Given the description of an element on the screen output the (x, y) to click on. 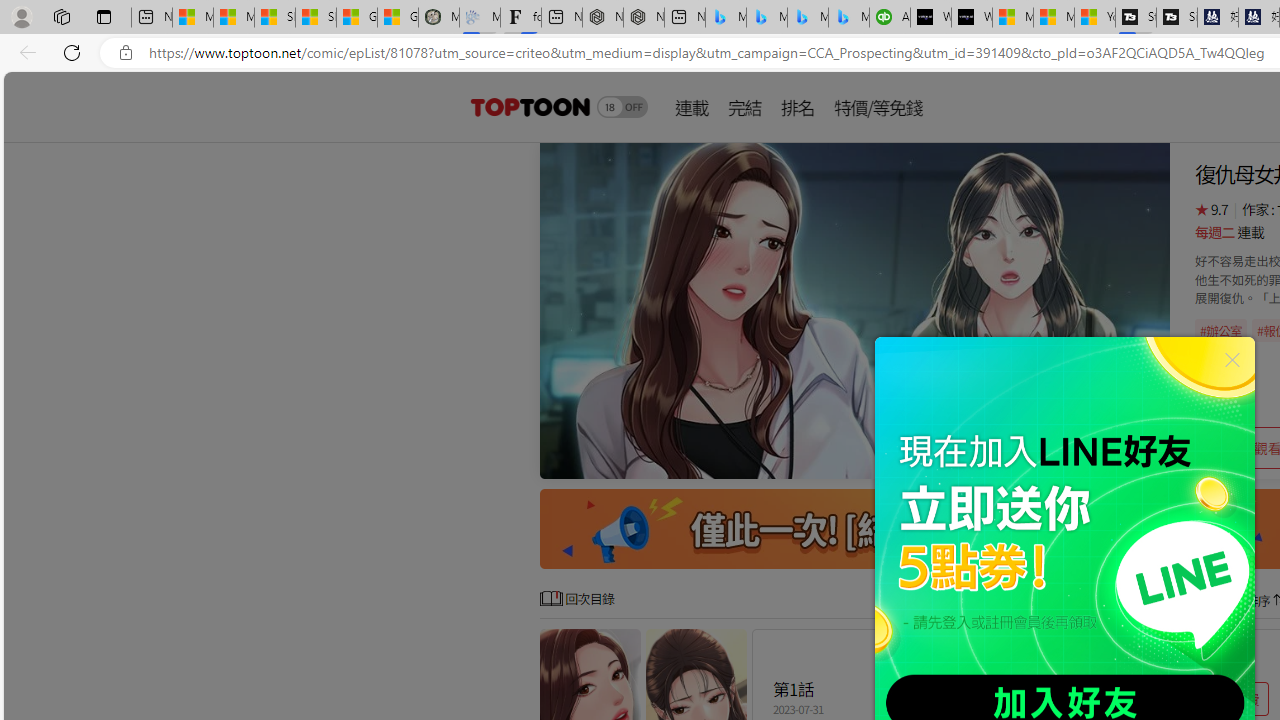
Manatee Mortality Statistics | FWC (438, 17)
Class:  switch_18mode actionAdultBtn (621, 106)
Accounting Software for Accountants, CPAs and Bookkeepers (890, 17)
